Given the description of an element on the screen output the (x, y) to click on. 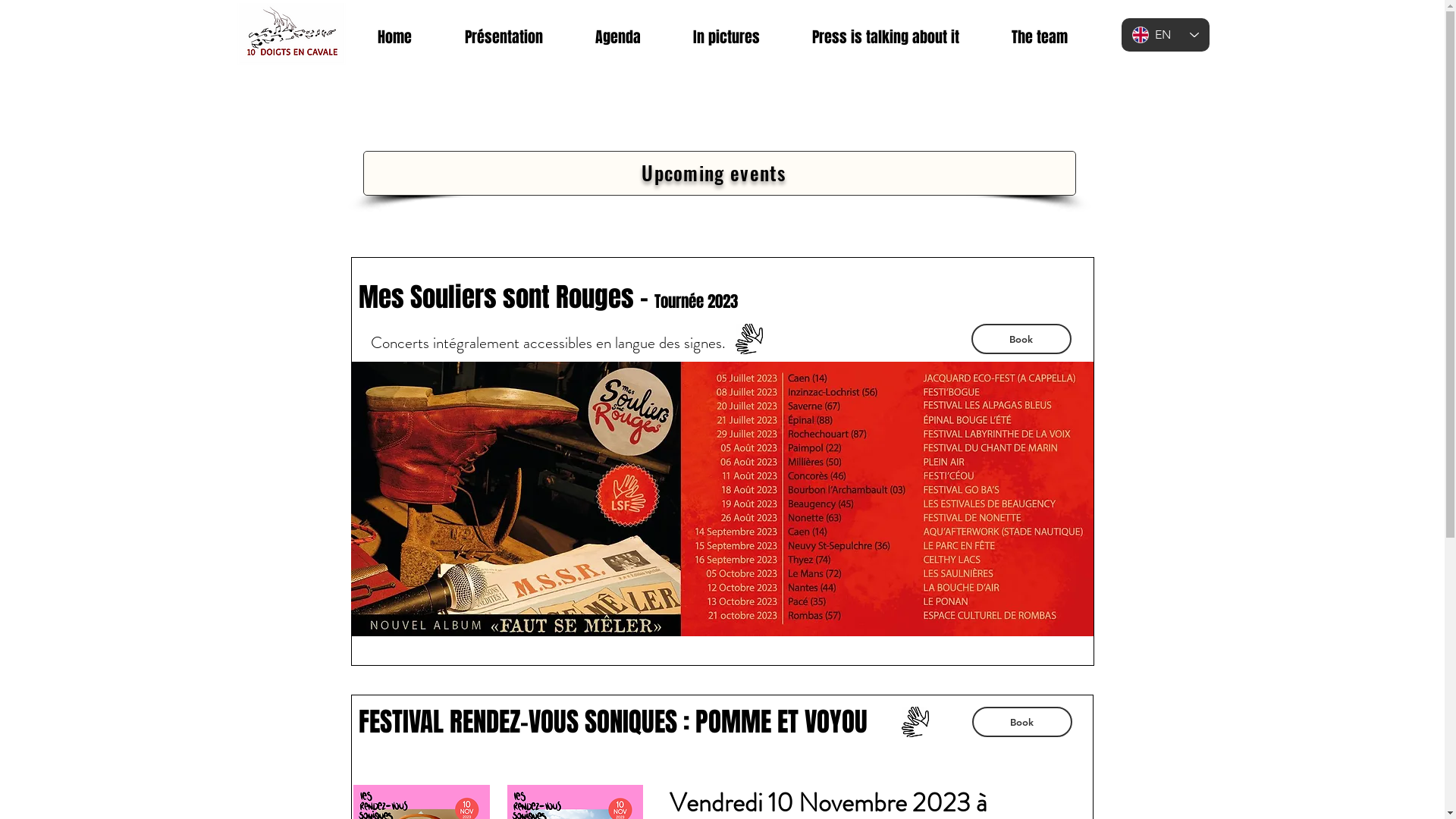
10 doigts en cavale Element type: hover (289, 37)
The team Element type: text (1039, 37)
Book Element type: text (1022, 721)
Home Element type: text (393, 37)
Press is talking about it Element type: text (885, 37)
Book Element type: text (1020, 338)
